Given the description of an element on the screen output the (x, y) to click on. 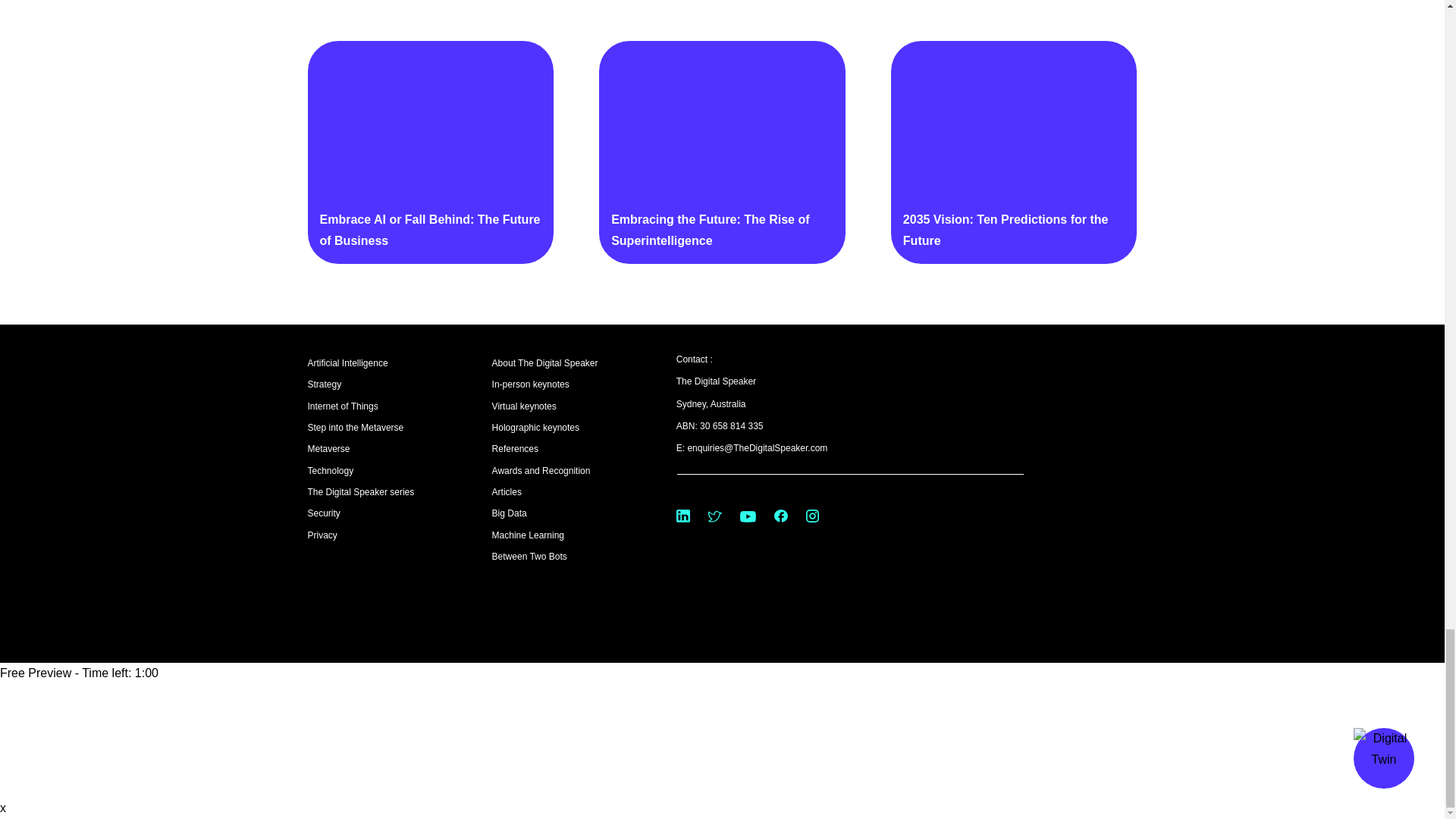
Instagram (812, 515)
Facebook (780, 515)
Twitter (714, 516)
Linkedin (683, 515)
Youtube (747, 516)
